Given the description of an element on the screen output the (x, y) to click on. 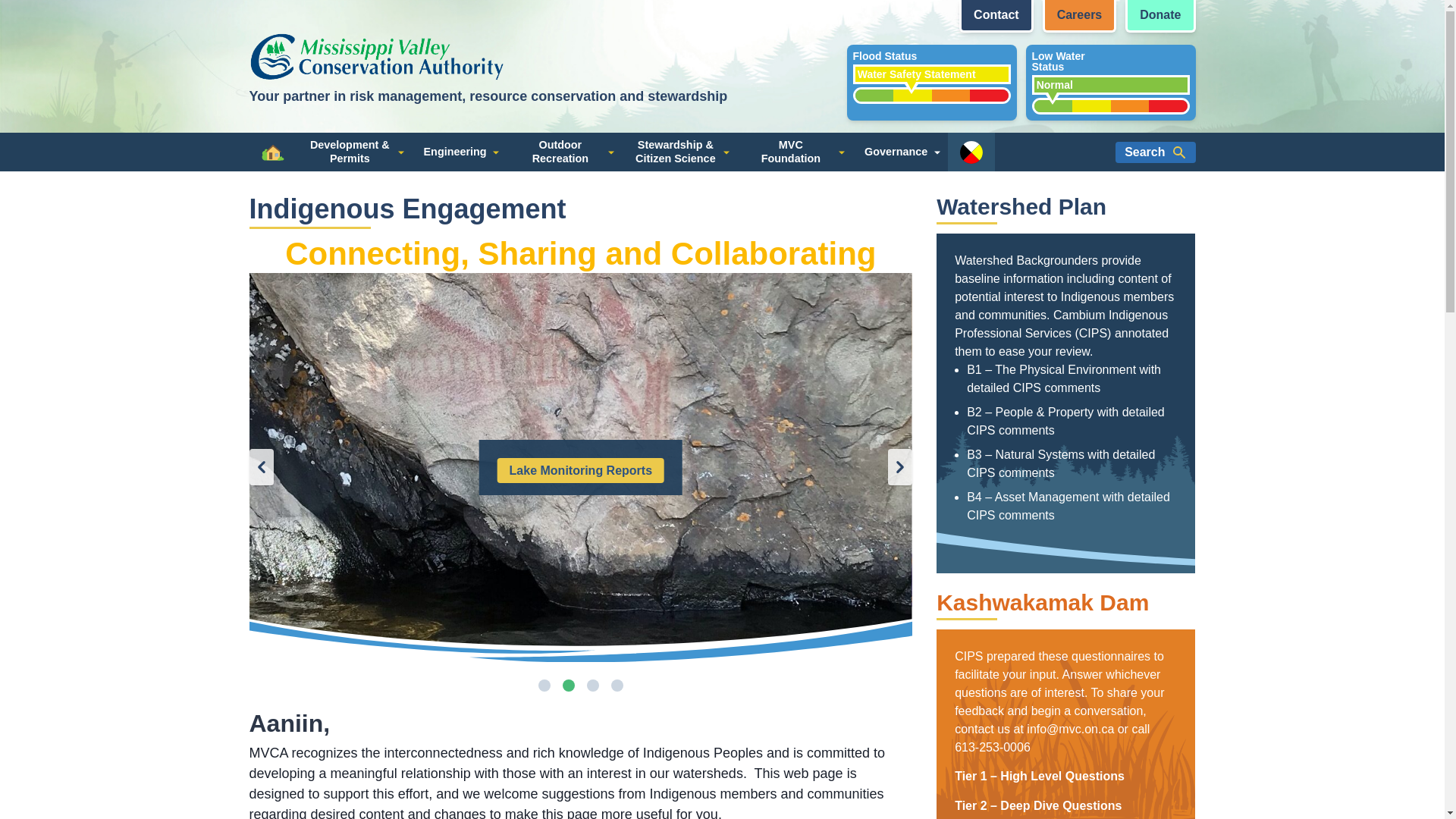
Engineering (458, 151)
Donate (1160, 16)
Contact (996, 16)
Outdoor Recreation (1110, 82)
Careers (563, 151)
